Given the description of an element on the screen output the (x, y) to click on. 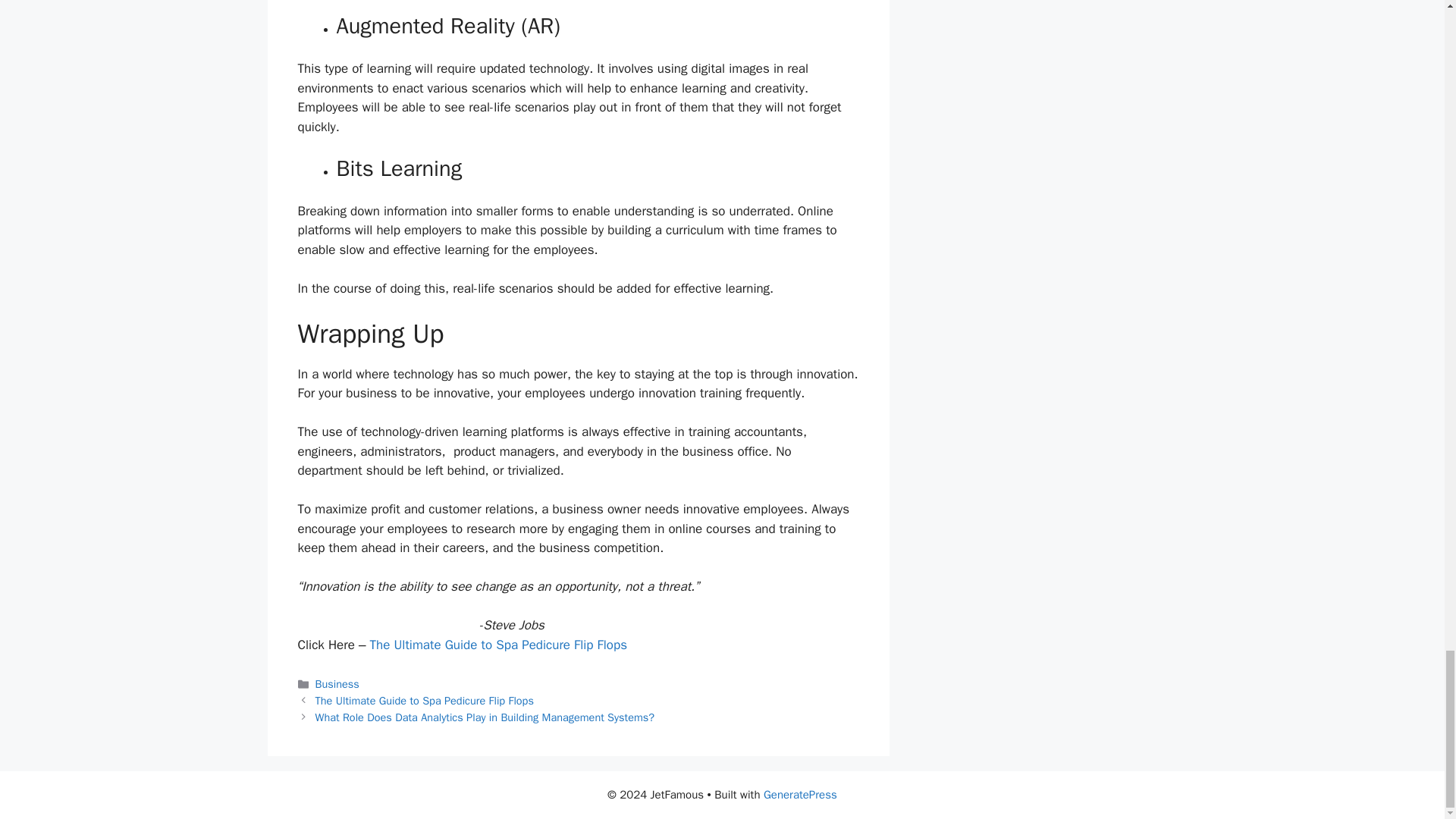
Business (337, 684)
The Ultimate Guide to Spa Pedicure Flip Flops (498, 644)
The Ultimate Guide to Spa Pedicure Flip Flops (424, 700)
